Given the description of an element on the screen output the (x, y) to click on. 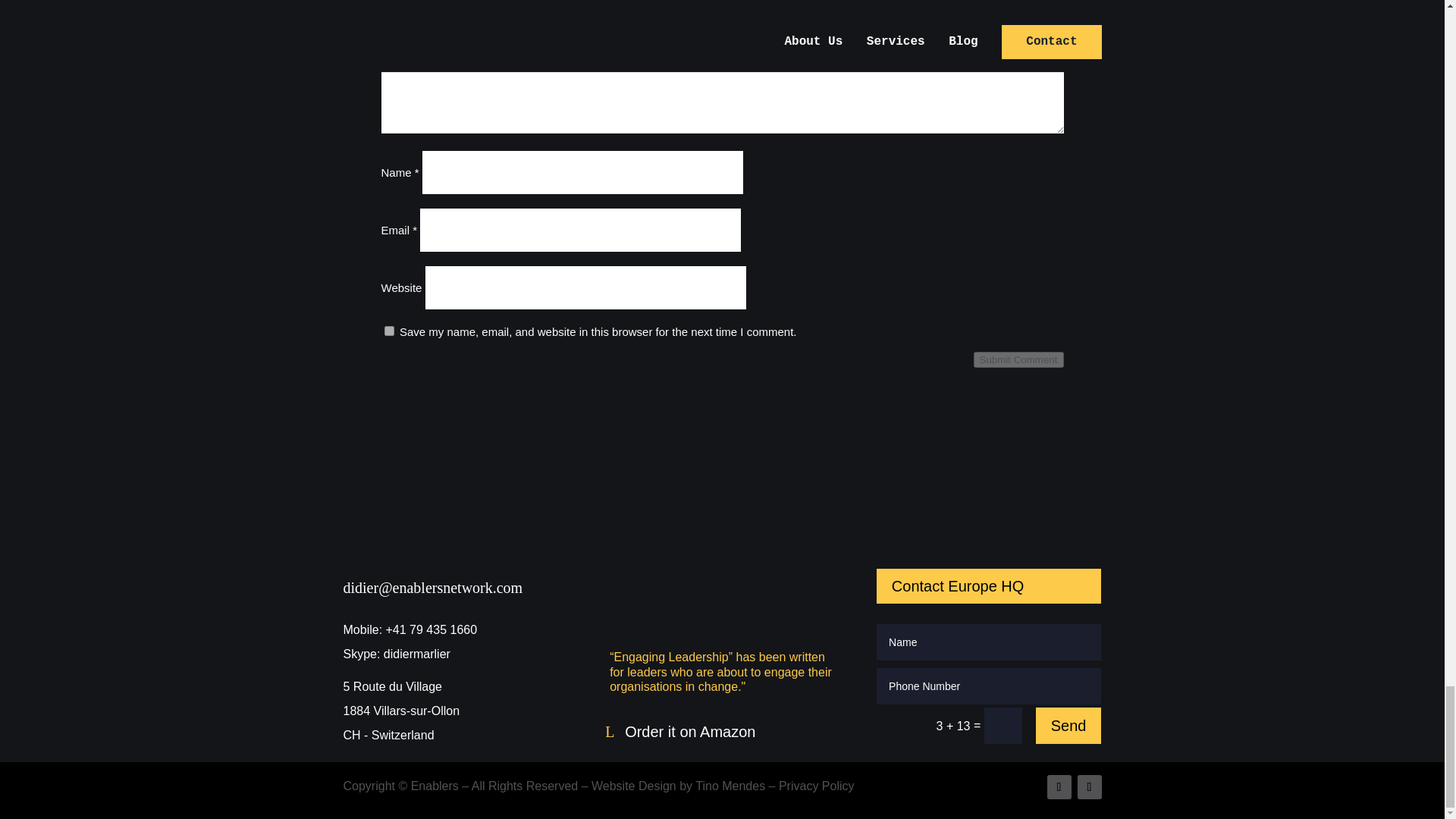
Send (1068, 725)
enablers-engaging-leadership-web (722, 575)
enablerS Logo-02 (455, 544)
Submit Comment (1019, 359)
Follow on Youtube (1088, 786)
Contact Europe HQ (989, 585)
yes (388, 330)
Order it on Amazon (687, 731)
Follow on LinkedIn (1058, 786)
